Given the description of an element on the screen output the (x, y) to click on. 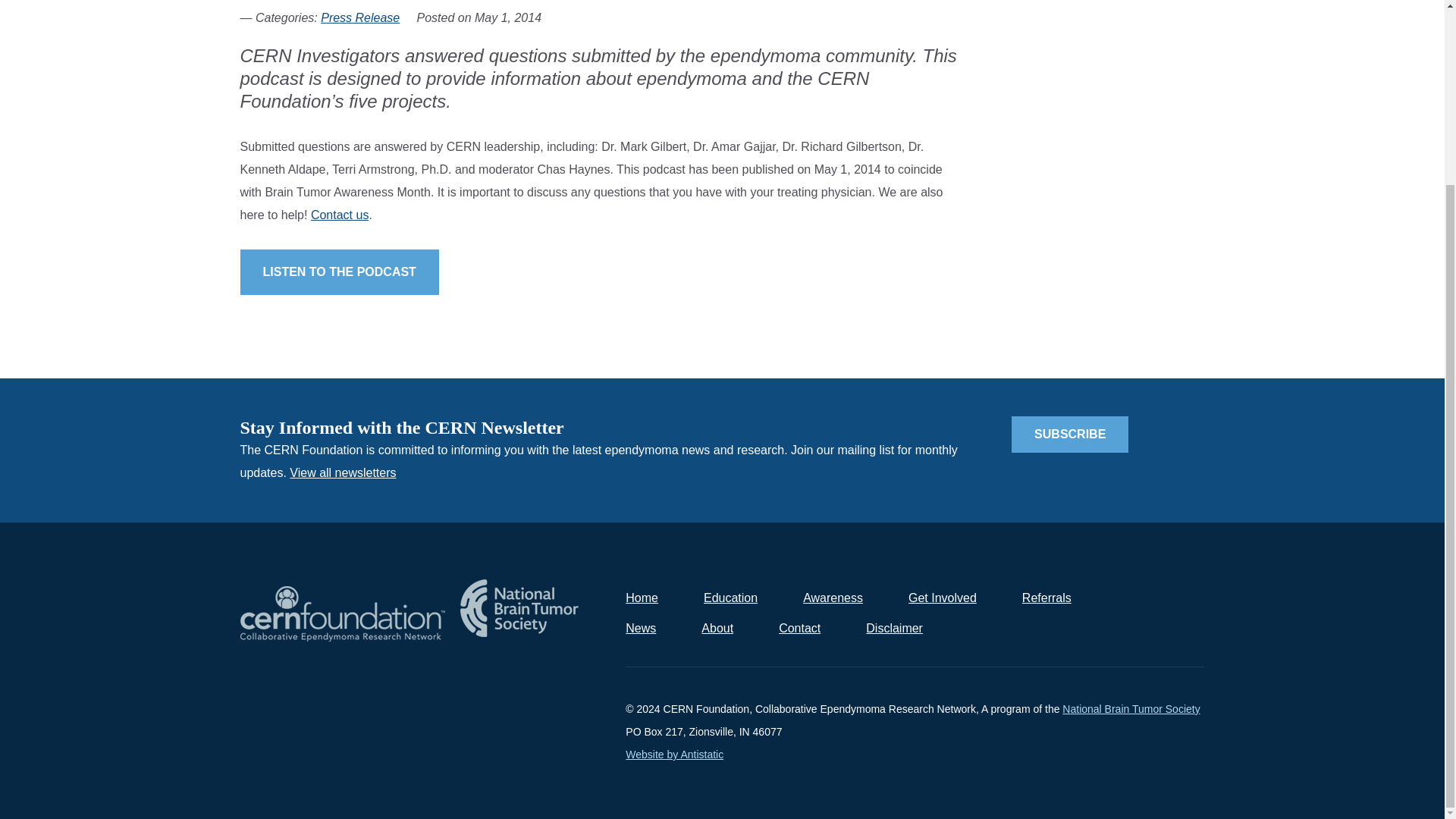
Disclaimer (894, 627)
Press Release (359, 17)
Home (642, 597)
Education (730, 597)
National Brain Tumor Society (1130, 708)
Contact us (339, 214)
SUBSCRIBE (1069, 434)
About (717, 627)
Website by Antistatic (674, 754)
LISTEN TO THE PODCAST (339, 271)
